Given the description of an element on the screen output the (x, y) to click on. 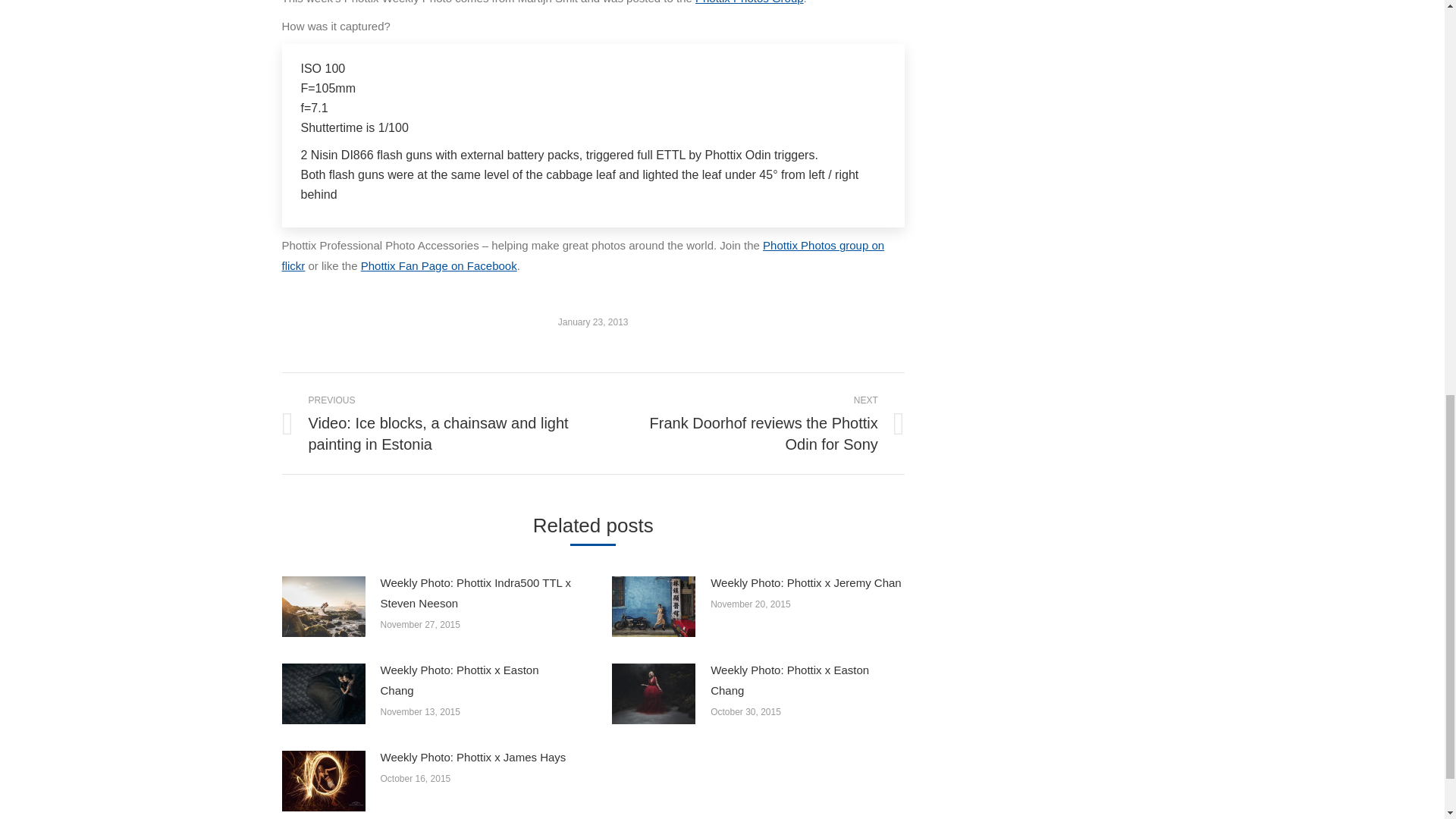
Phottix Fan Page on Facebook (438, 265)
Weekly Photo: Phottix x James Hays (473, 756)
Weekly Photo: Phottix x Easton Chang (807, 680)
Phottix Photos group on flickr (583, 255)
Weekly Photo: Phottix x Jeremy Chan (805, 582)
Weekly Photo: Phottix x Easton Chang (477, 680)
Weekly Photo: Phottix Indra500 TTL x Steven Neeson (477, 592)
Phottix Photos Group (749, 2)
